Given the description of an element on the screen output the (x, y) to click on. 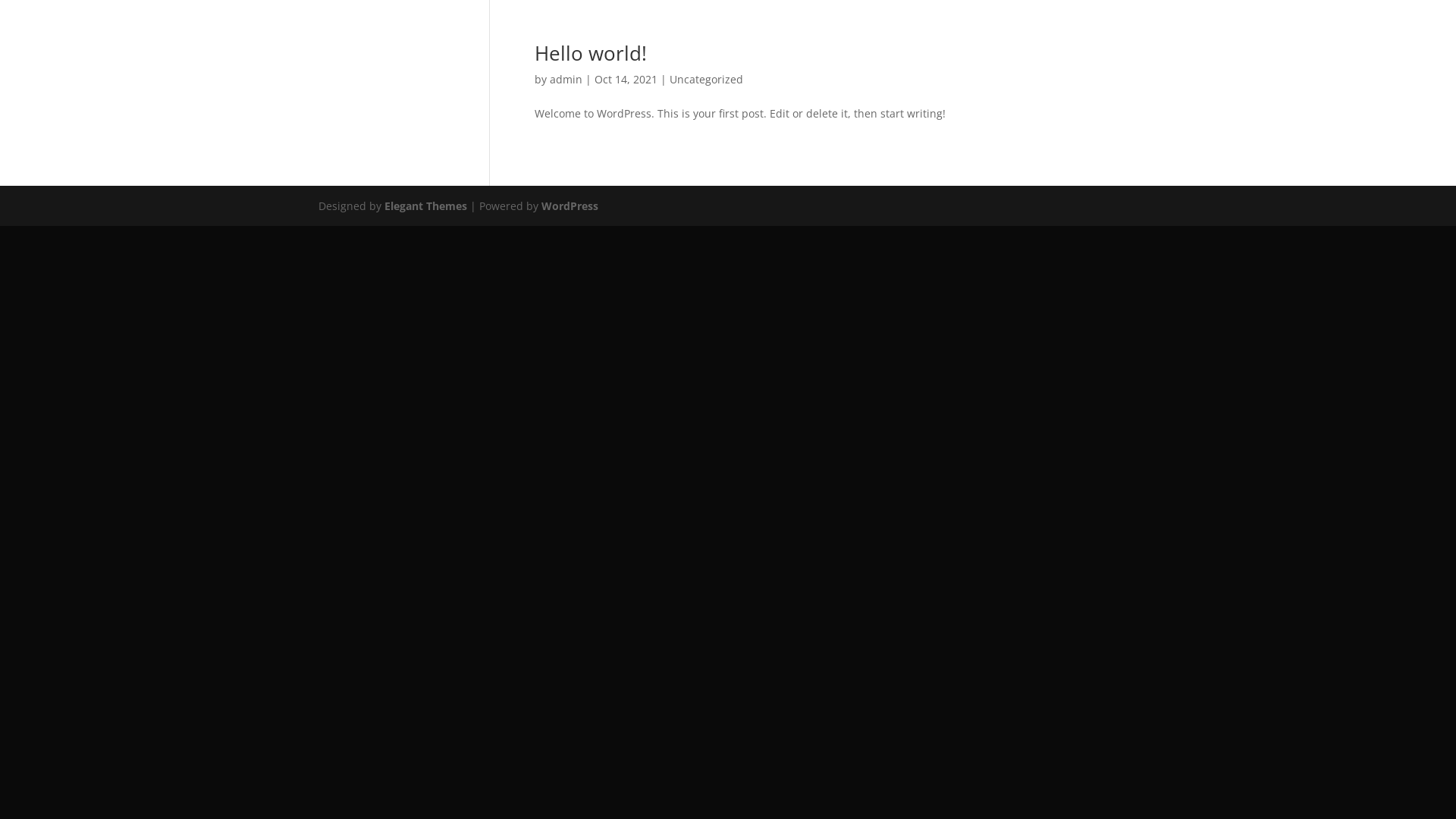
Uncategorized Element type: text (706, 79)
Hello world! Element type: text (590, 52)
WordPress Element type: text (569, 205)
Elegant Themes Element type: text (425, 205)
admin Element type: text (565, 79)
